Given the description of an element on the screen output the (x, y) to click on. 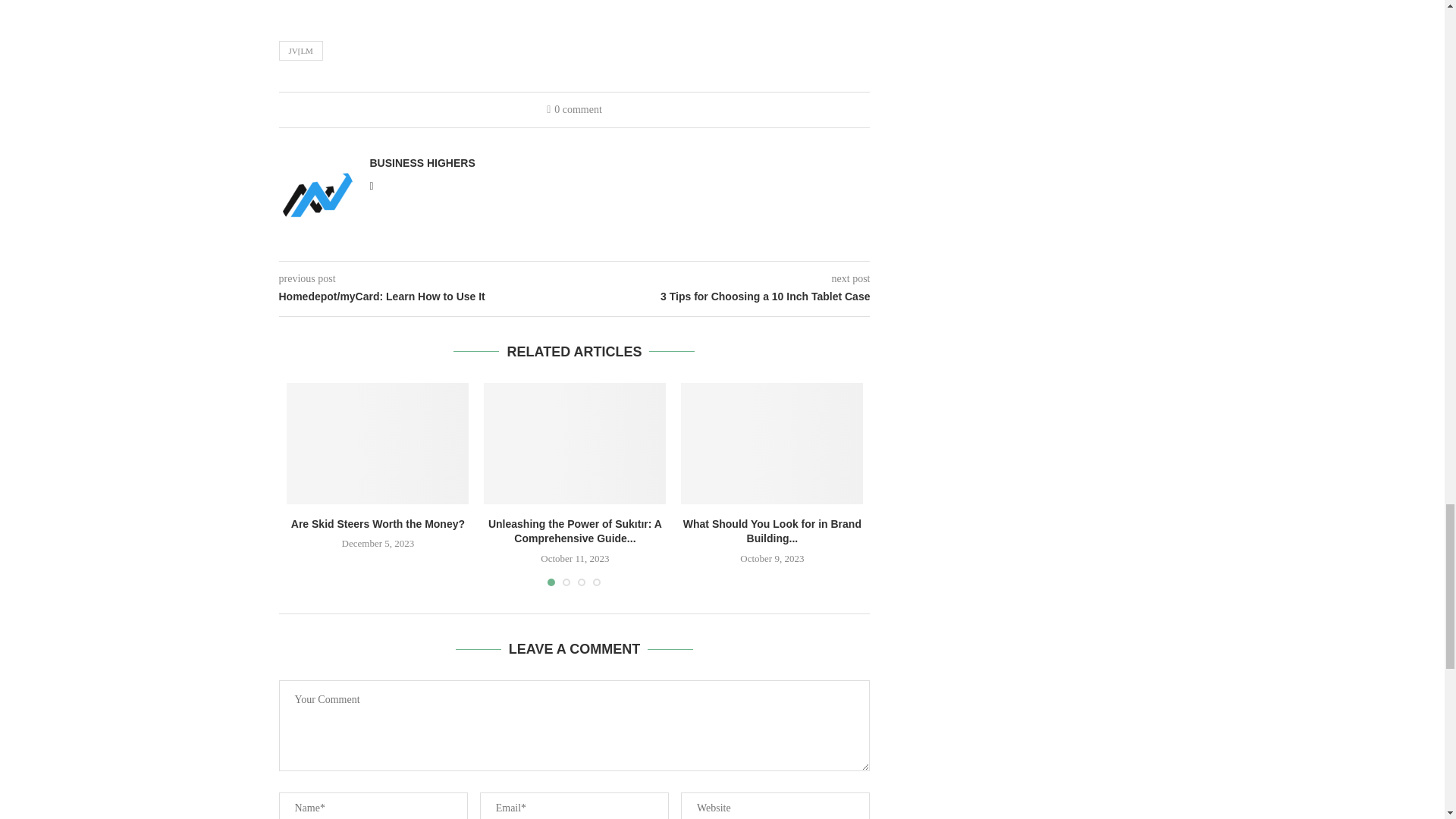
BUSINESS HIGHERS (422, 162)
3 Tips for Choosing a 10 Inch Tablet Case (722, 296)
What Should You Look for in Brand Building... (771, 531)
Are Skid Steers Worth the Money? (377, 443)
What Should You Look for in Brand Building Services? (772, 443)
Author Business Highers (422, 162)
Are Skid Steers Worth the Money? (377, 523)
